Given the description of an element on the screen output the (x, y) to click on. 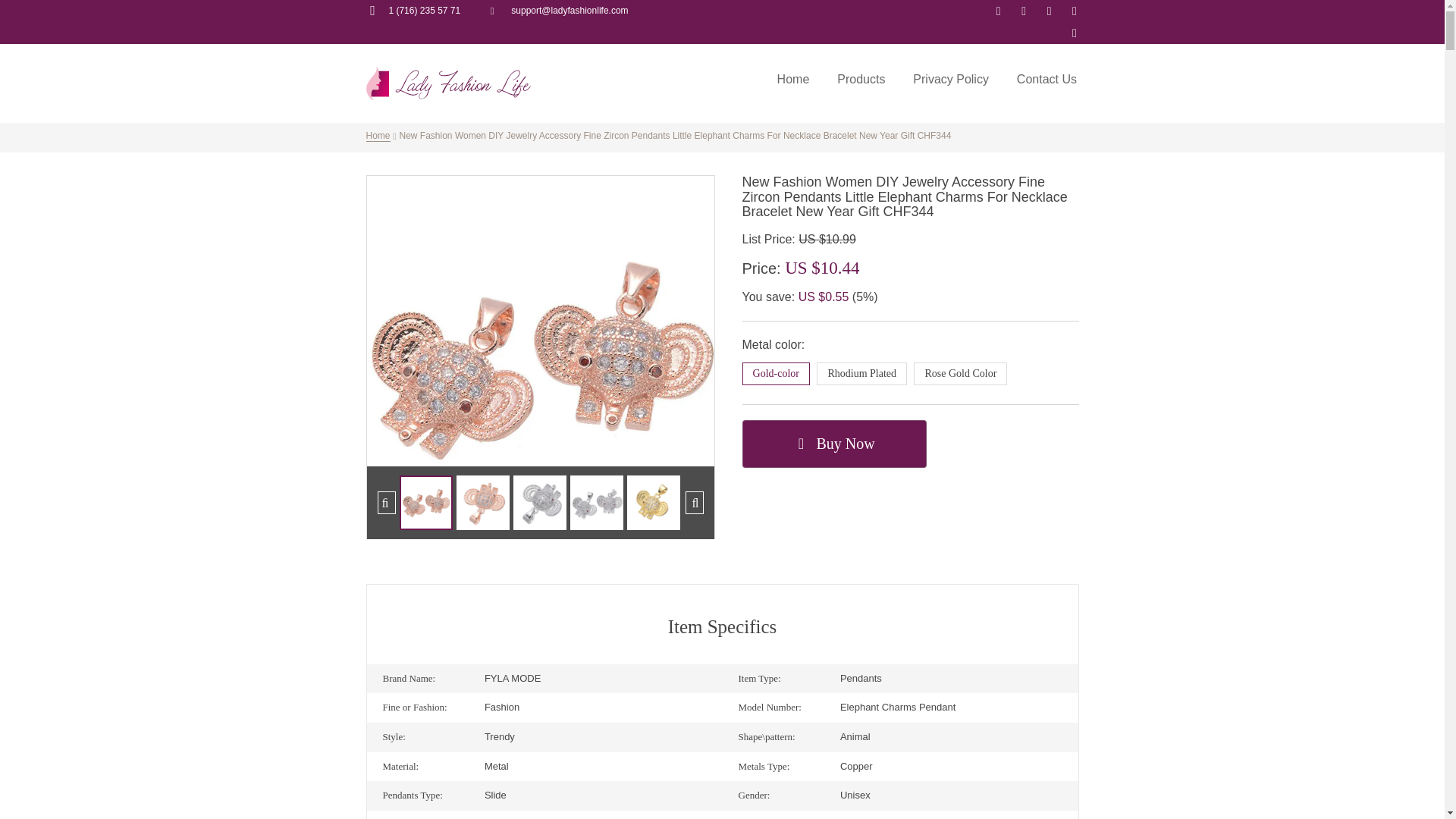
Home (377, 135)
Contact Us (1046, 80)
Buy Now (834, 443)
Privacy Policy (950, 80)
